Given the description of an element on the screen output the (x, y) to click on. 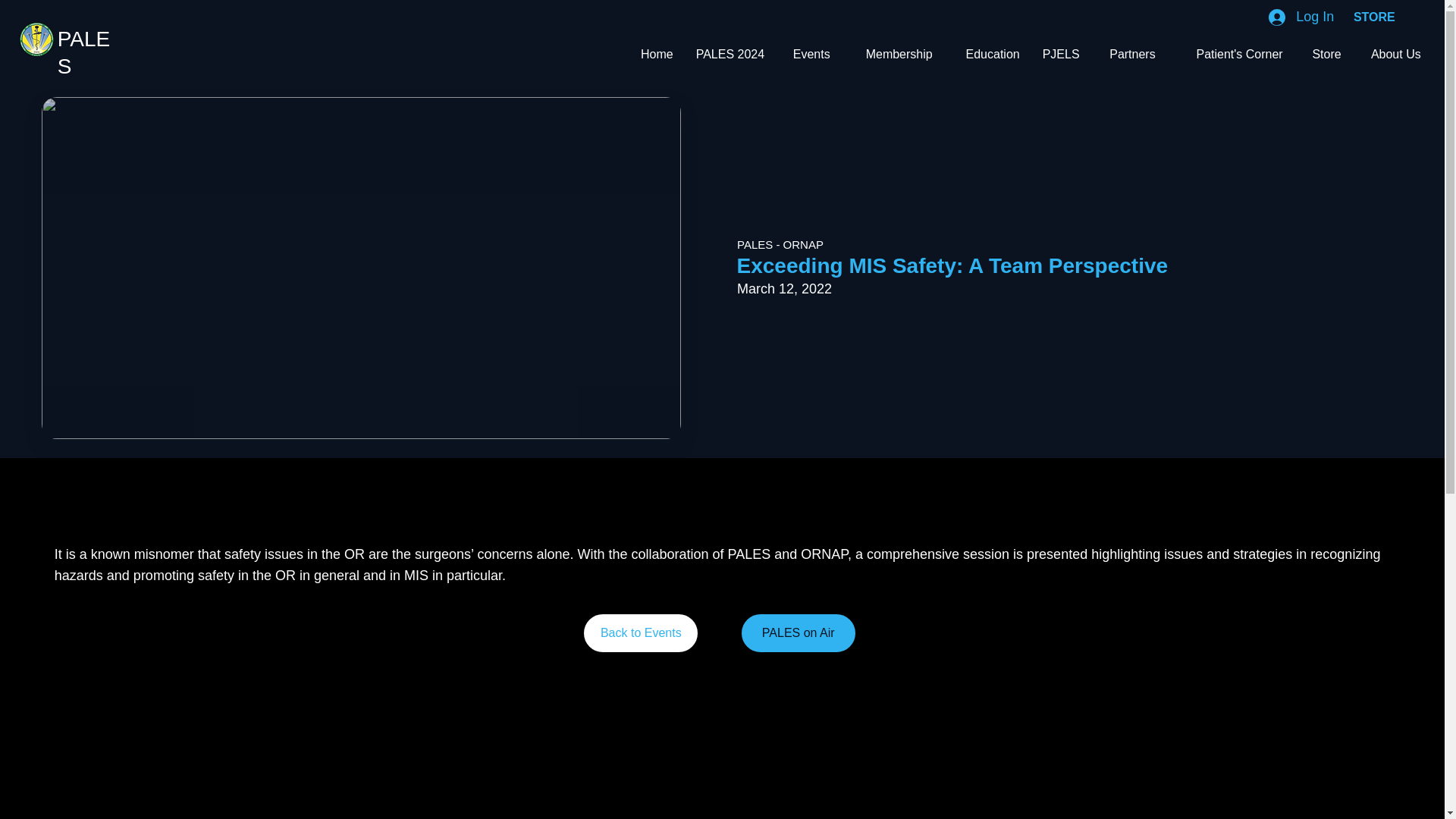
About Us (1392, 53)
Events (808, 53)
PALES (84, 52)
Patient's Corner (1230, 53)
PJELS (1058, 53)
Store (1323, 53)
STORE (1373, 17)
Education (986, 53)
PALES 2024 (730, 53)
Membership (892, 53)
